Given the description of an element on the screen output the (x, y) to click on. 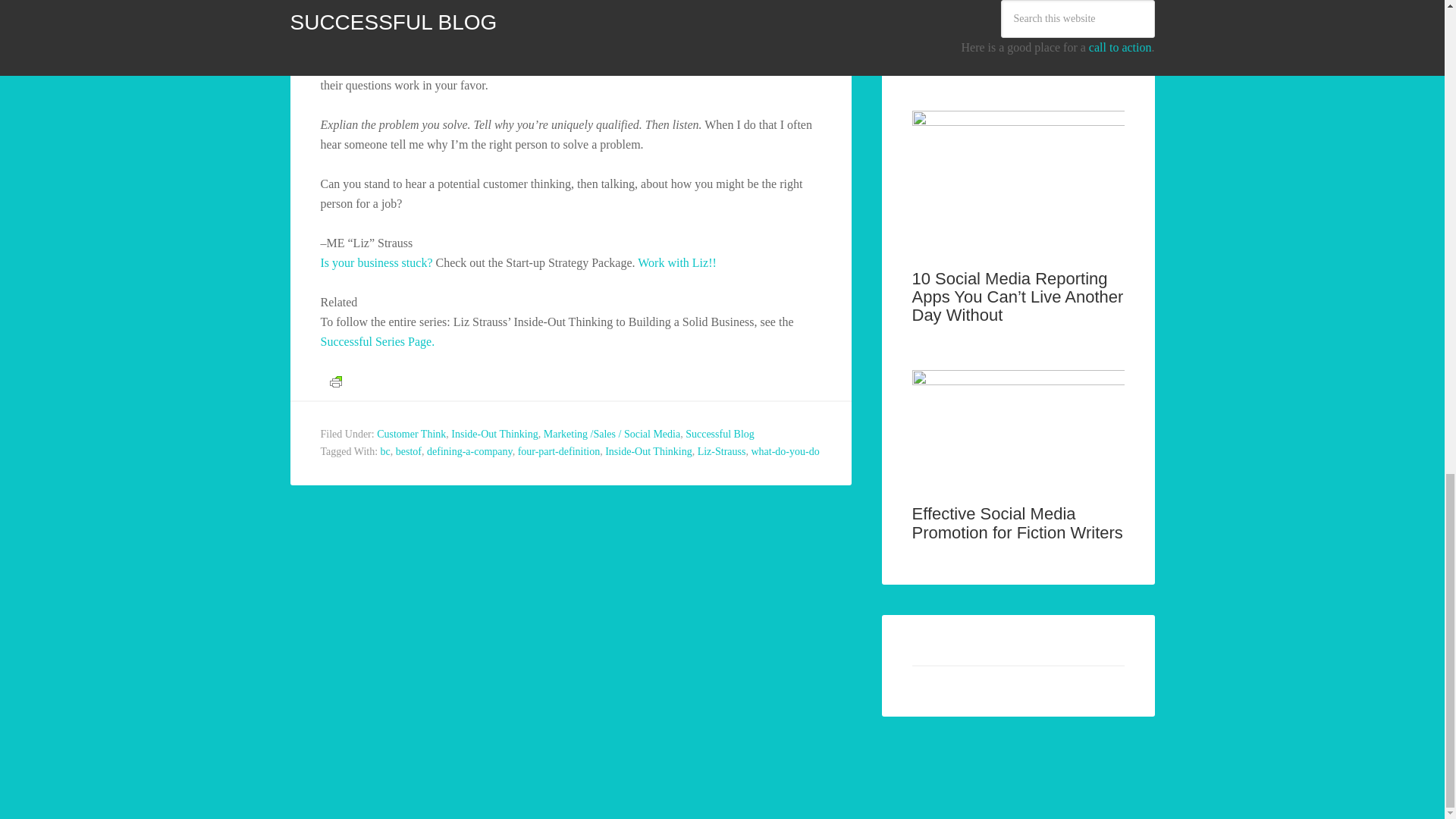
bestof (409, 451)
what-do-you-do (784, 451)
Inside-Out Thinking (648, 451)
Inside-Out Thinking (494, 433)
Customer Think (411, 433)
Liz-Strauss (721, 451)
Successful Blog (719, 433)
Effective Social Media Promotion for Fiction Writers (1016, 522)
four-part-definition (558, 451)
Watch Your Tone! Finding Your Brand Voice (1005, 46)
Work with Liz!! (676, 262)
Is your business stuck? (376, 262)
Successful Series Page. (376, 341)
defining-a-company (469, 451)
